Given the description of an element on the screen output the (x, y) to click on. 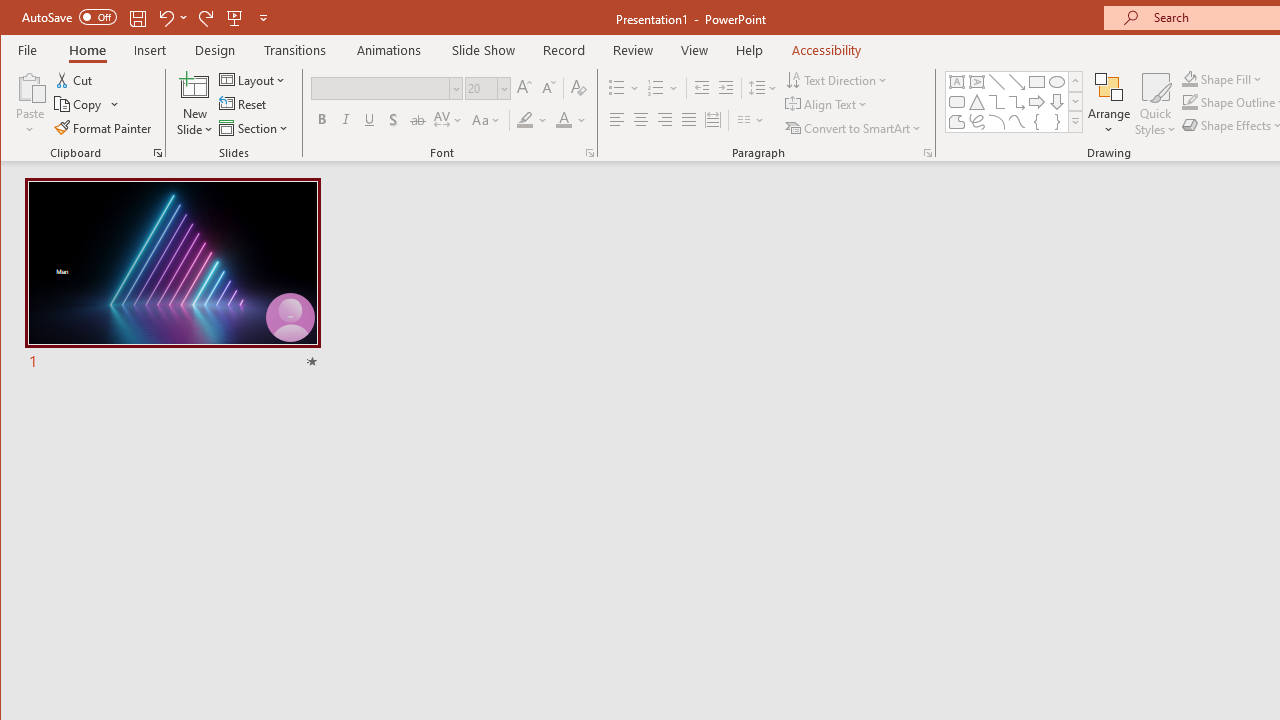
Arrange (1108, 104)
Text Highlight Color (532, 119)
Reset (244, 103)
Connector: Elbow Arrow (1016, 102)
Center (640, 119)
Align Text (828, 103)
Change Case (486, 119)
Shape Fill (1222, 78)
Layout (253, 80)
Columns (751, 119)
Underline (369, 119)
